Given the description of an element on the screen output the (x, y) to click on. 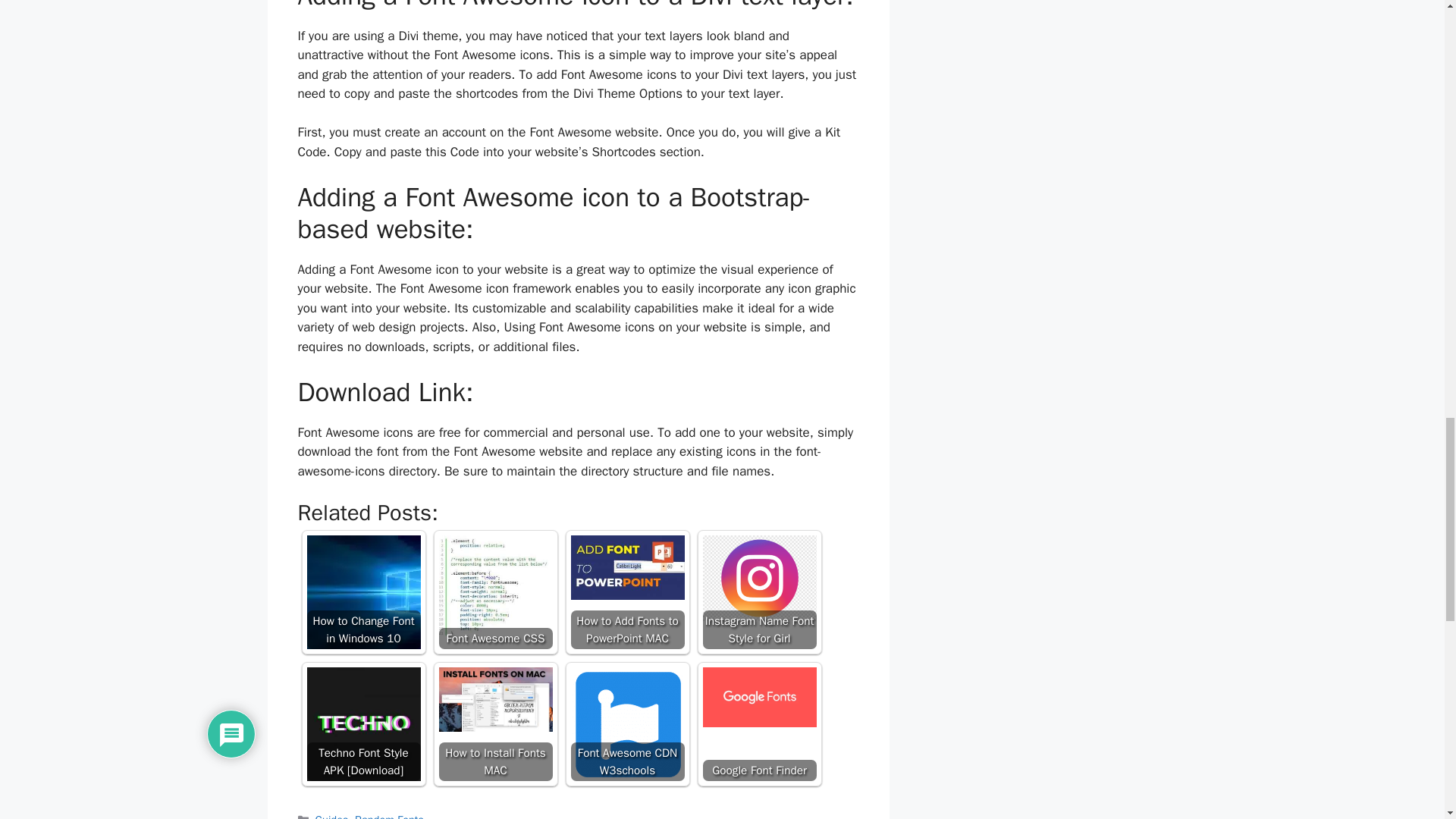
How to Install Fonts MAC (494, 699)
Font Awesome CDN W3schools (627, 724)
Font Awesome CDN W3schools (627, 724)
Google Font Finder (758, 697)
How to Change Font in Windows 10 (362, 592)
Font Awesome CSS (494, 592)
Google Font Finder (758, 724)
How to Add Fonts to PowerPoint MAC (627, 592)
Guides (332, 816)
Random Fonts (389, 816)
How to Add Fonts to PowerPoint MAC (627, 567)
How to Install Fonts MAC (494, 724)
Instagram Name Font Style for Girl (758, 592)
Font Awesome CSS (494, 586)
How to Change Font in Windows 10 (362, 592)
